Given the description of an element on the screen output the (x, y) to click on. 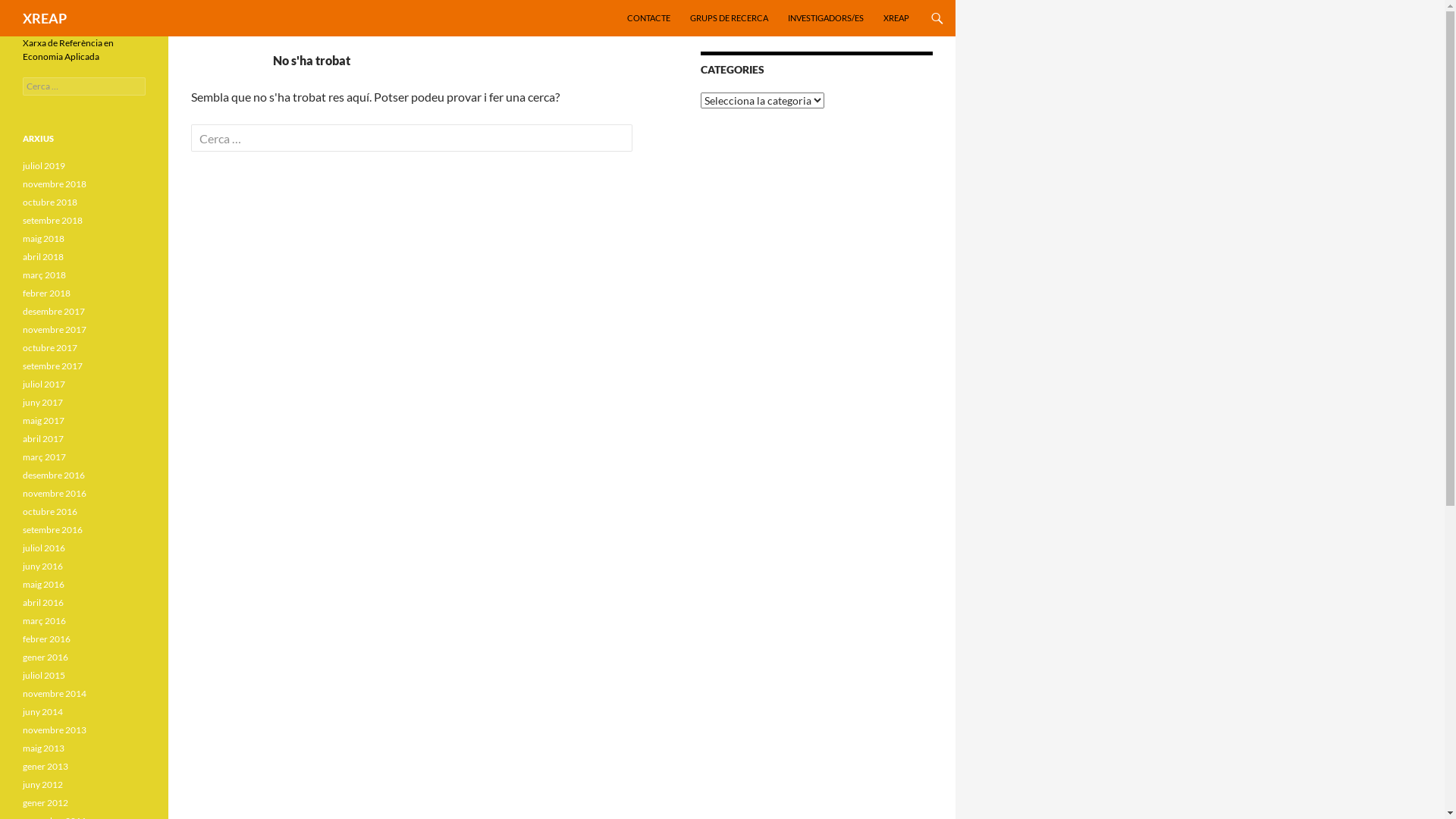
juny 2016 Element type: text (42, 565)
desembre 2016 Element type: text (53, 474)
Cerca Element type: text (26, 9)
XREAP Element type: text (896, 18)
maig 2013 Element type: text (43, 747)
juny 2017 Element type: text (42, 401)
juliol 2019 Element type: text (43, 165)
INVESTIGADORS/ES Element type: text (825, 18)
gener 2016 Element type: text (45, 656)
GRUPS DE RECERCA Element type: text (728, 18)
Cerca Element type: text (3, 0)
abril 2017 Element type: text (42, 438)
gener 2013 Element type: text (45, 765)
maig 2016 Element type: text (43, 583)
febrer 2016 Element type: text (46, 638)
febrer 2018 Element type: text (46, 292)
juliol 2015 Element type: text (43, 674)
setembre 2018 Element type: text (52, 219)
maig 2017 Element type: text (43, 420)
novembre 2016 Element type: text (54, 492)
novembre 2017 Element type: text (54, 329)
novembre 2018 Element type: text (54, 183)
abril 2016 Element type: text (42, 602)
setembre 2017 Element type: text (52, 365)
octubre 2018 Element type: text (49, 201)
novembre 2013 Element type: text (54, 729)
XREAP Element type: text (44, 18)
desembre 2017 Element type: text (53, 310)
abril 2018 Element type: text (42, 256)
juliol 2016 Element type: text (43, 547)
setembre 2016 Element type: text (52, 529)
juny 2012 Element type: text (42, 784)
maig 2018 Element type: text (43, 238)
juny 2014 Element type: text (42, 711)
CONTACTE Element type: text (648, 18)
Cerca Element type: text (37, 13)
novembre 2014 Element type: text (54, 693)
octubre 2016 Element type: text (49, 511)
octubre 2017 Element type: text (49, 347)
juliol 2017 Element type: text (43, 383)
gener 2012 Element type: text (45, 802)
